Given the description of an element on the screen output the (x, y) to click on. 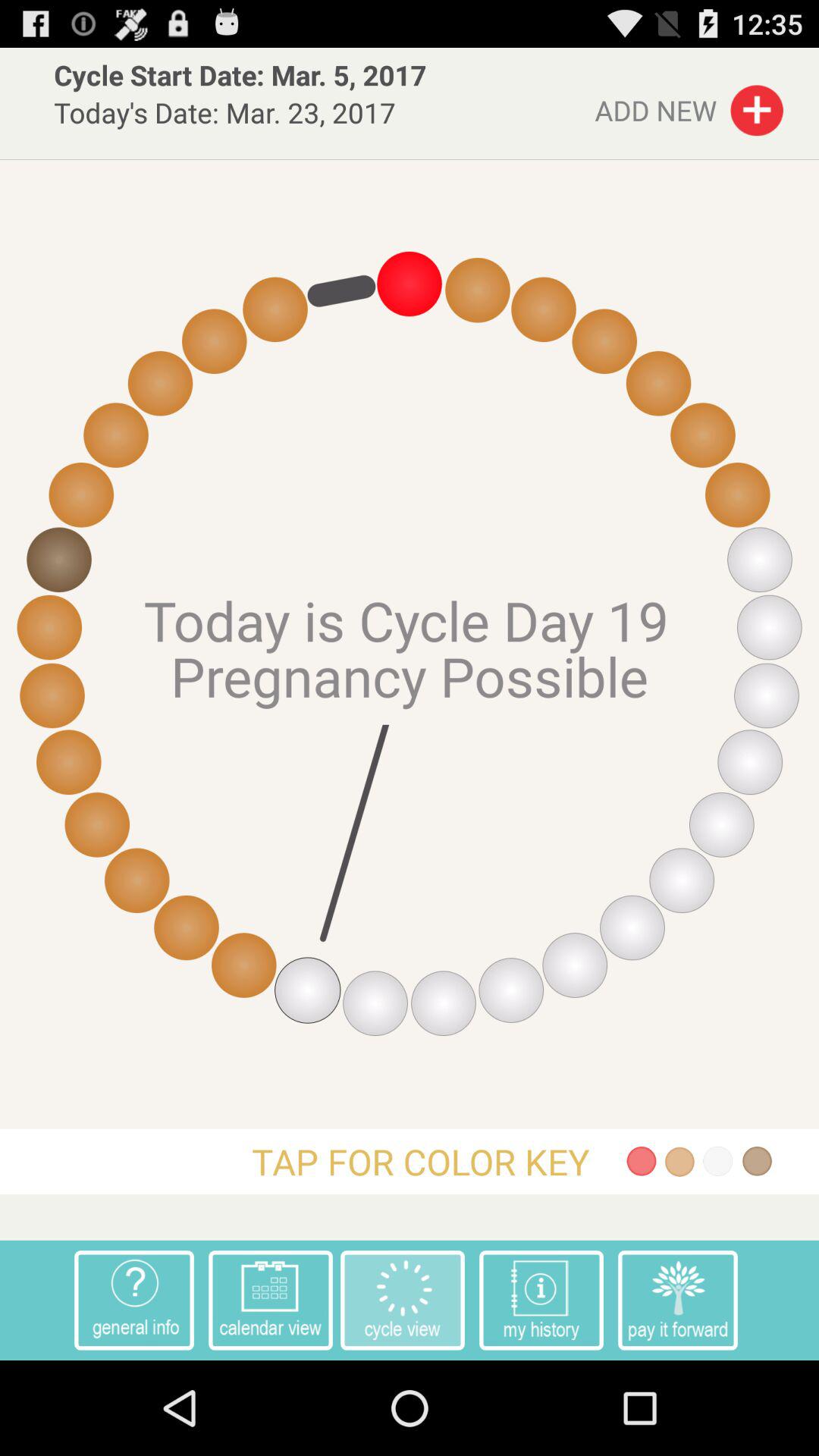
tap the app to the left of   item (677, 1300)
